Given the description of an element on the screen output the (x, y) to click on. 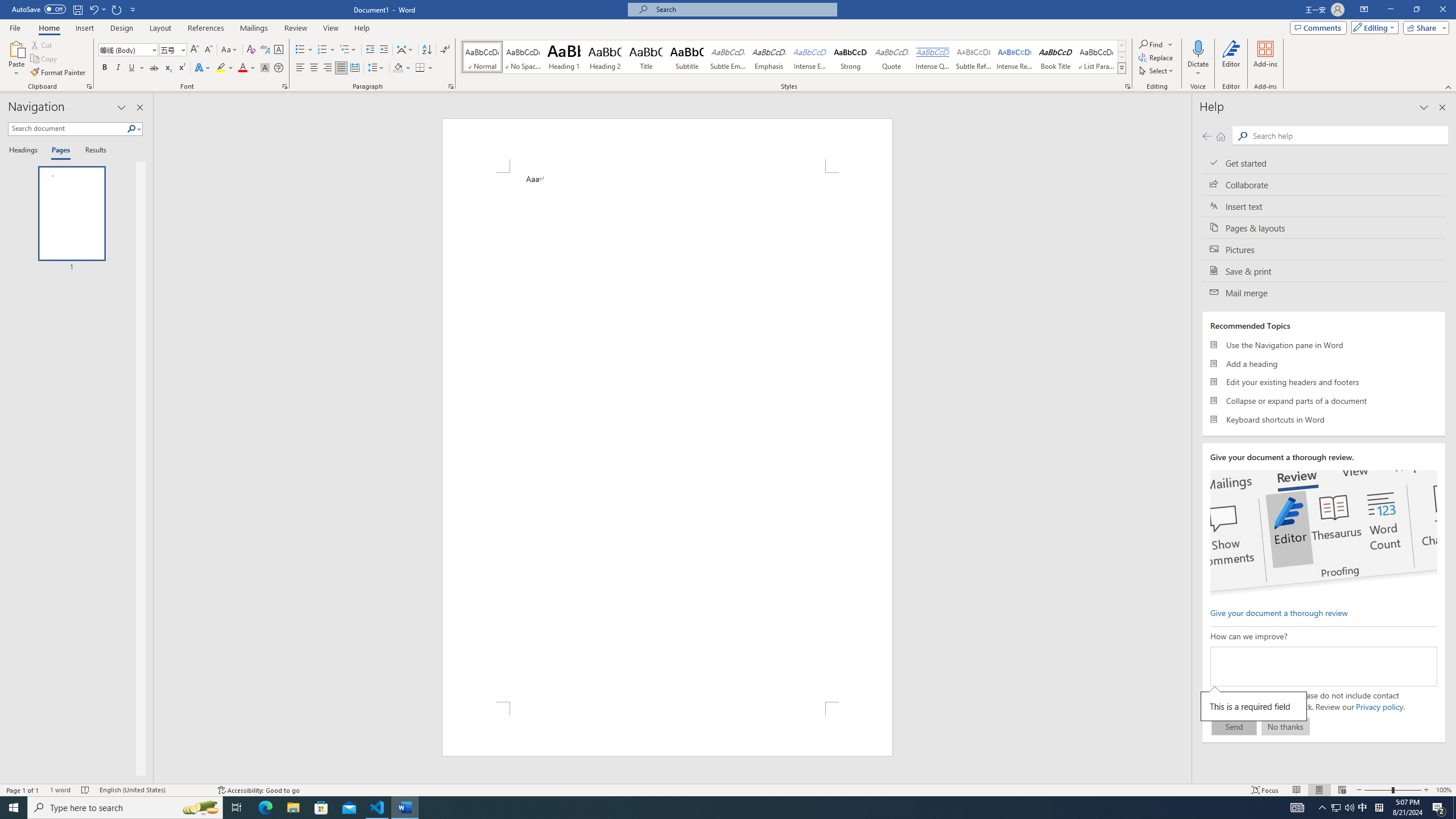
Send (1233, 726)
Use the Navigation pane in Word (1323, 344)
Subtitle (686, 56)
Book Title (1055, 56)
Page 1 content (667, 436)
